Given the description of an element on the screen output the (x, y) to click on. 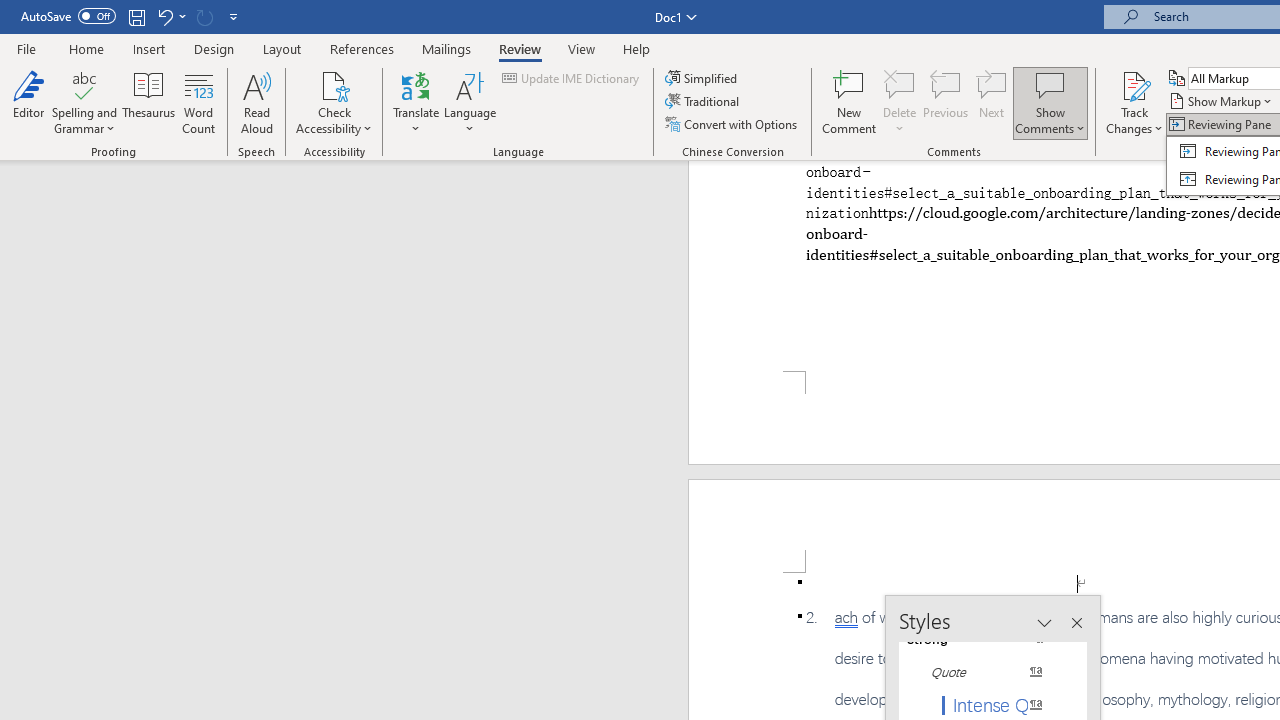
Undo Paste (170, 15)
New Comment (849, 102)
Show Comments (1050, 84)
